Given the description of an element on the screen output the (x, y) to click on. 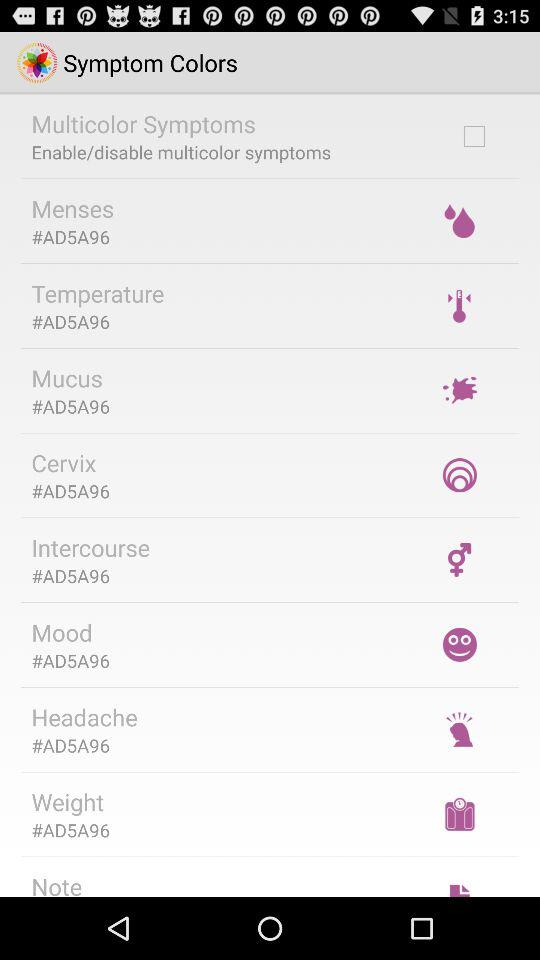
jump until the intercourse icon (90, 547)
